Given the description of an element on the screen output the (x, y) to click on. 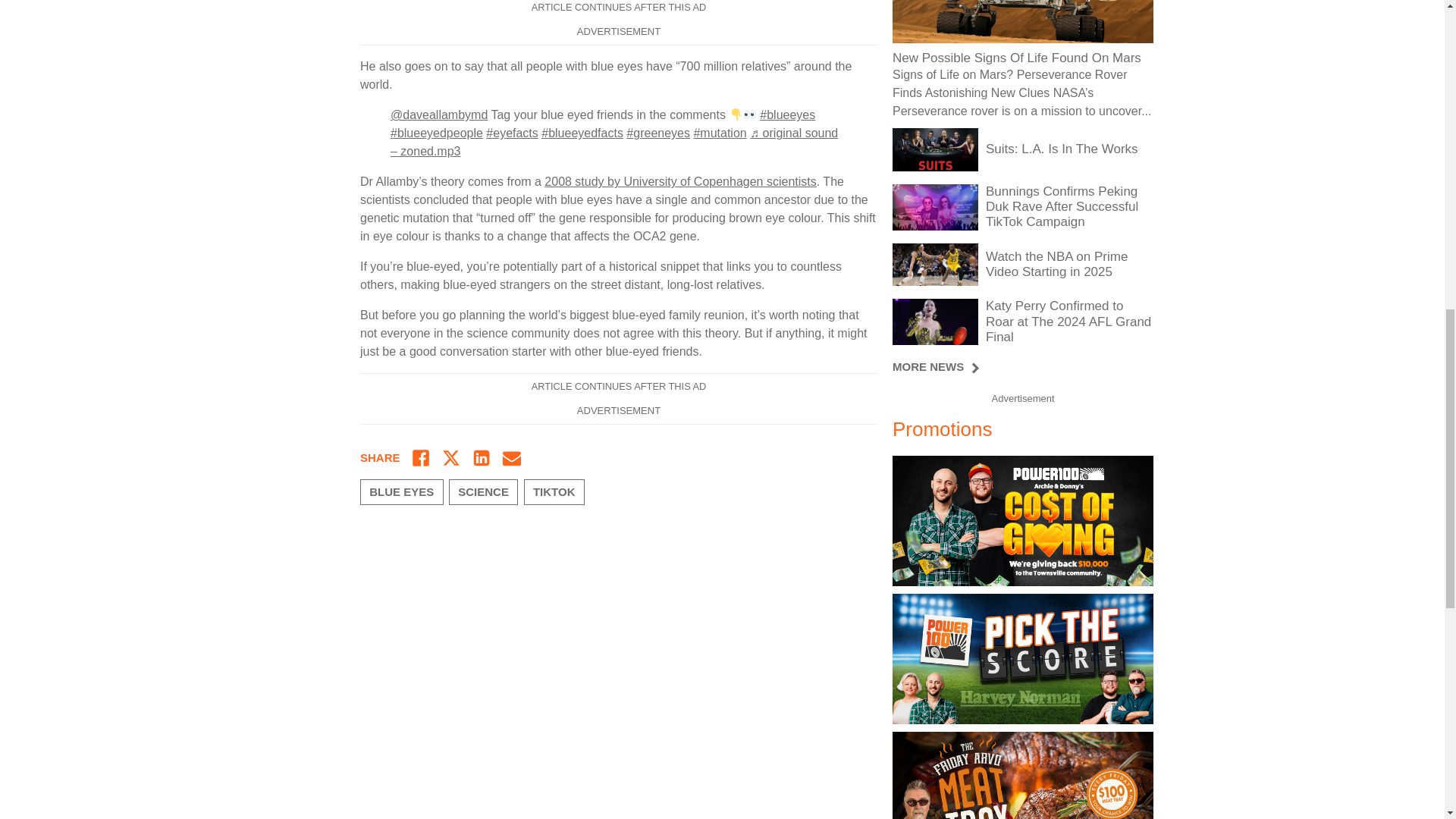
blueeyes (787, 114)
blueeyedpeople (436, 132)
eyefacts (511, 132)
mutation (719, 132)
blueeyedfacts (582, 132)
greeneyes (658, 132)
